Given the description of an element on the screen output the (x, y) to click on. 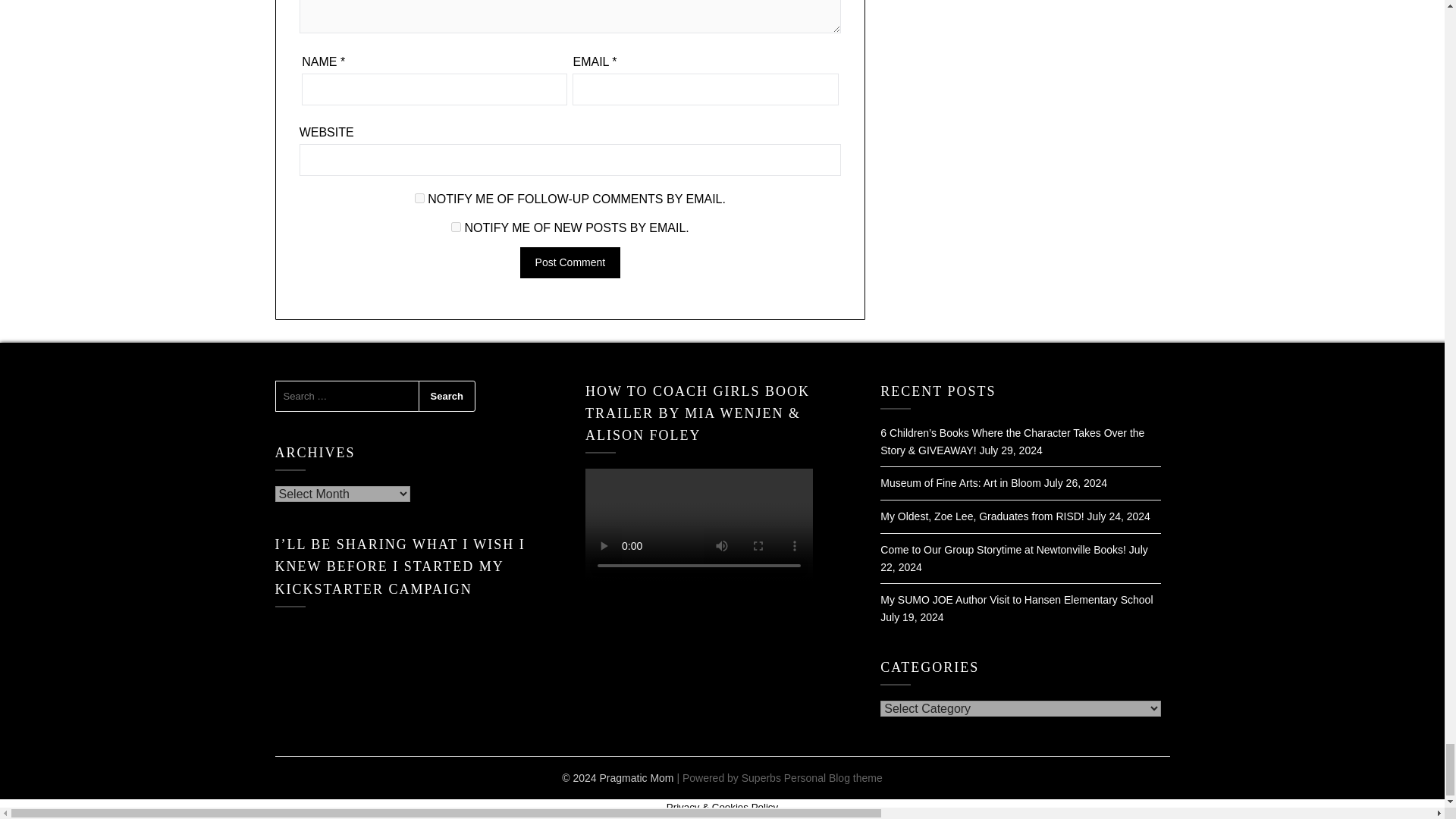
subscribe (419, 198)
subscribe (456, 226)
Post Comment (570, 262)
Search (447, 396)
Search (447, 396)
